Given the description of an element on the screen output the (x, y) to click on. 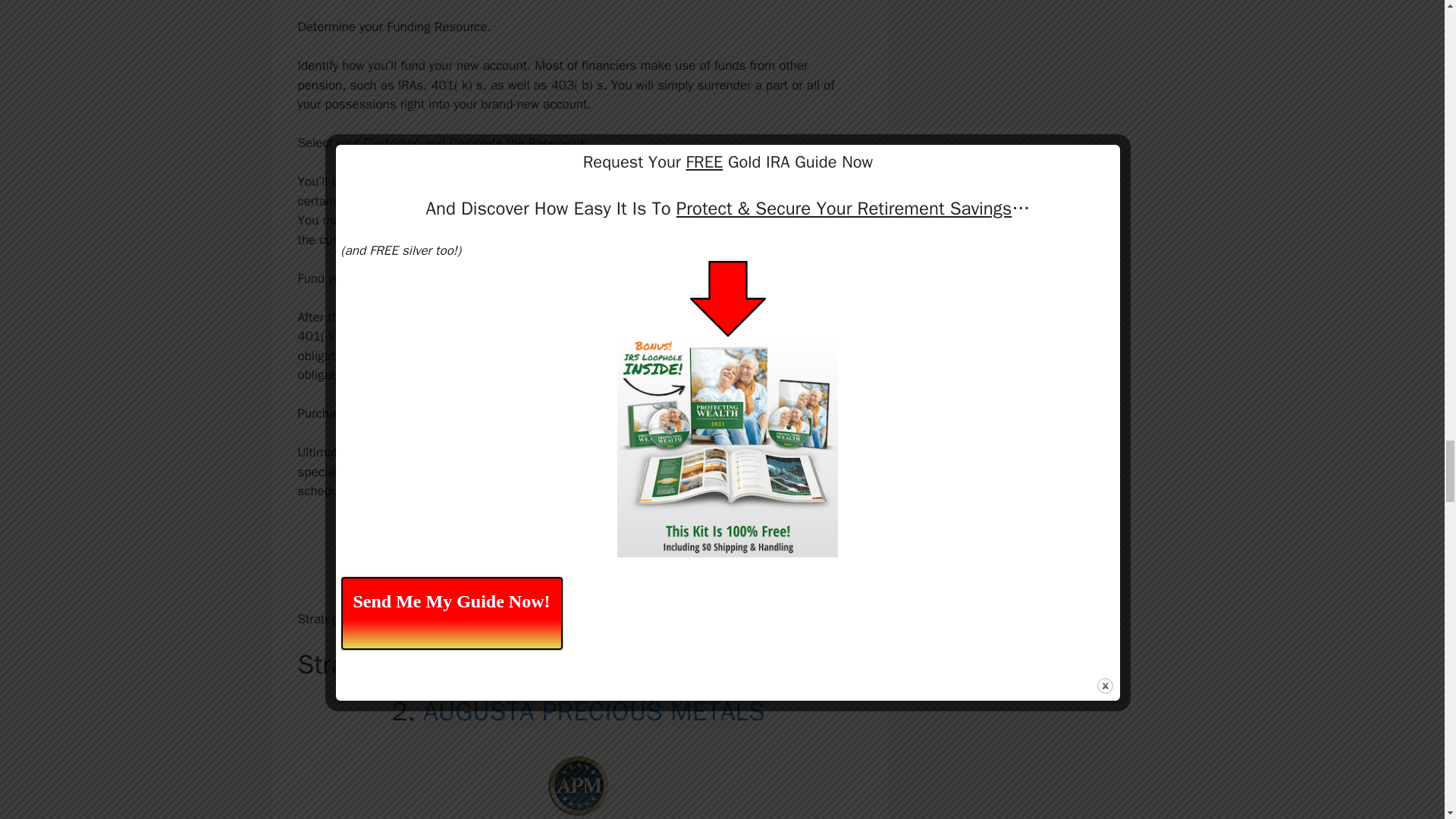
GET Goldco's FREE GUIDE (577, 554)
AUGUSTA PRECIOUS METALS (593, 711)
